Given the description of an element on the screen output the (x, y) to click on. 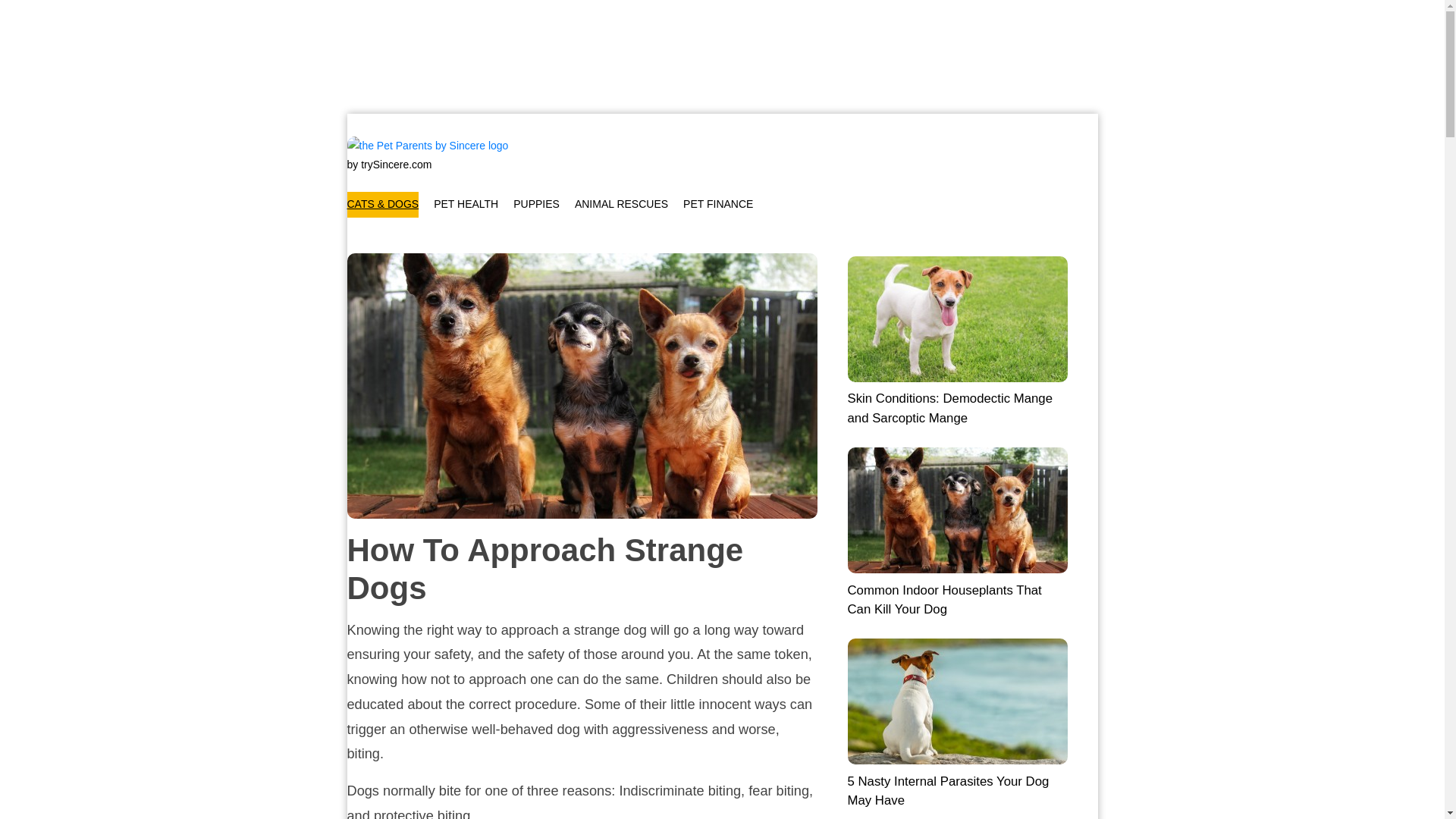
ANIMAL RESCUES (621, 204)
PUPPIES (536, 204)
by trySincere.com (389, 164)
PET FINANCE (717, 204)
Common Indoor Houseplants That Can Kill Your Dog (957, 531)
Skin Conditions: Demodectic Mange and Sarcoptic Mange (957, 340)
5 Nasty Internal Parasites Your Dog May Have (957, 722)
PET HEALTH (465, 204)
